Given the description of an element on the screen output the (x, y) to click on. 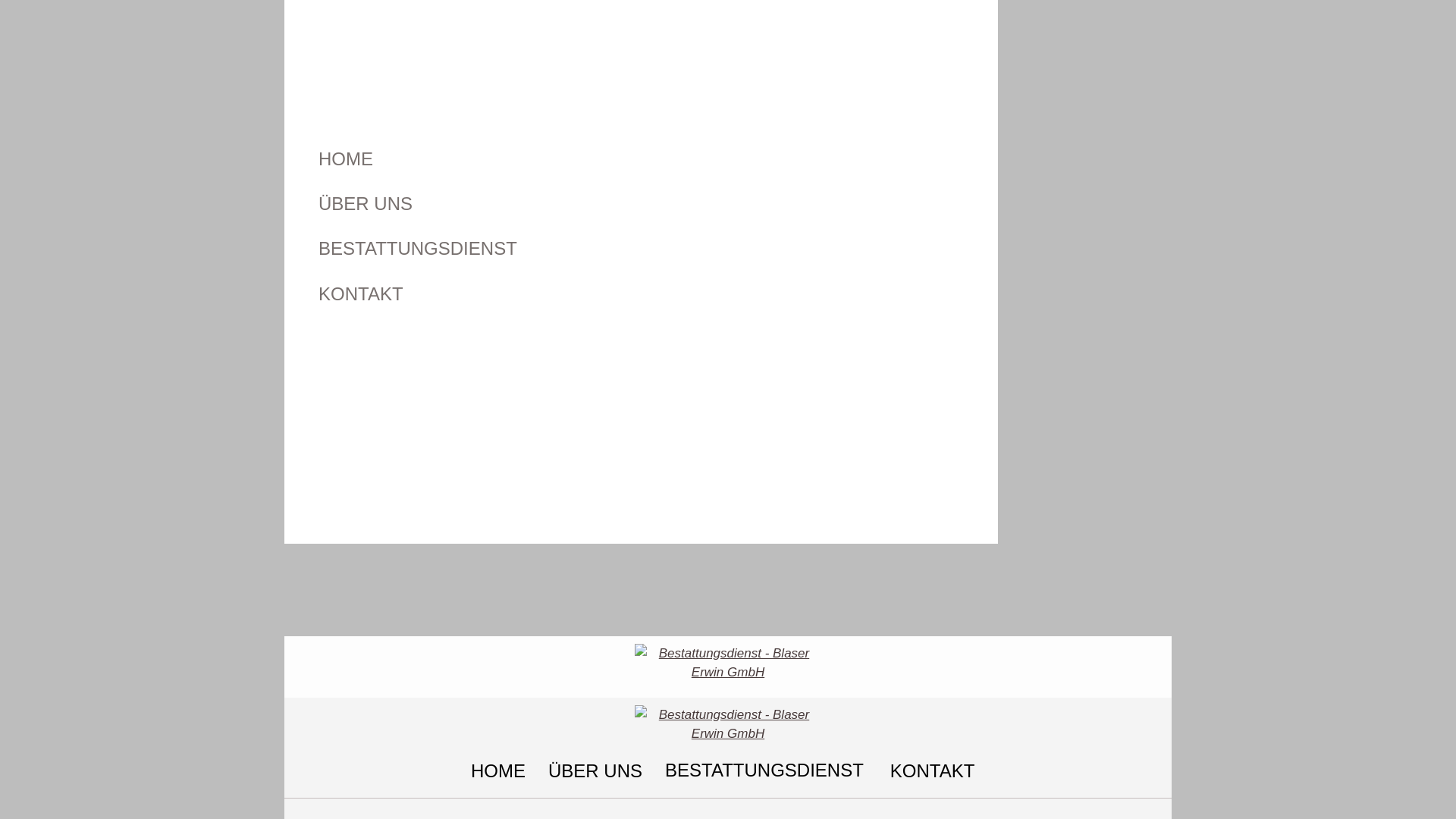
KONTAKT Element type: text (511, 301)
BESTATTUNGSDIENST Element type: text (511, 255)
HOME Element type: text (497, 770)
BESTATTUNGSDIENST Element type: text (765, 770)
HOME Element type: text (511, 166)
KONTAKT Element type: text (932, 770)
